Given the description of an element on the screen output the (x, y) to click on. 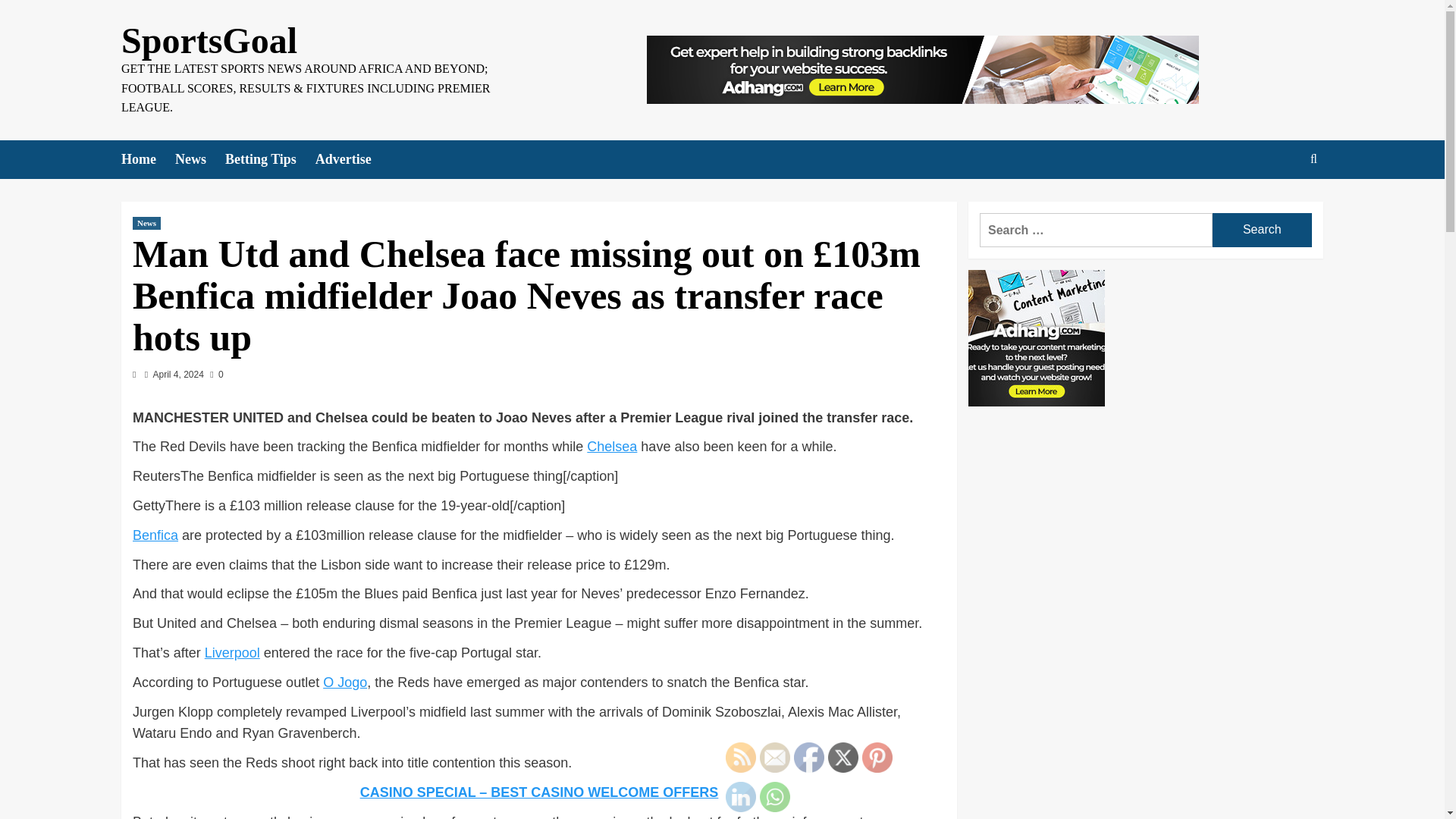
Liverpool (232, 652)
Home (147, 159)
April 4, 2024 (177, 374)
RSS (740, 757)
0 (215, 374)
News (146, 223)
Betting Tips (270, 159)
Chelsea (611, 446)
SportsGoal (208, 40)
Facebook (808, 757)
News (199, 159)
Follow by Email (775, 757)
Search (1261, 229)
Advertise (352, 159)
O Jogo (344, 682)
